Given the description of an element on the screen output the (x, y) to click on. 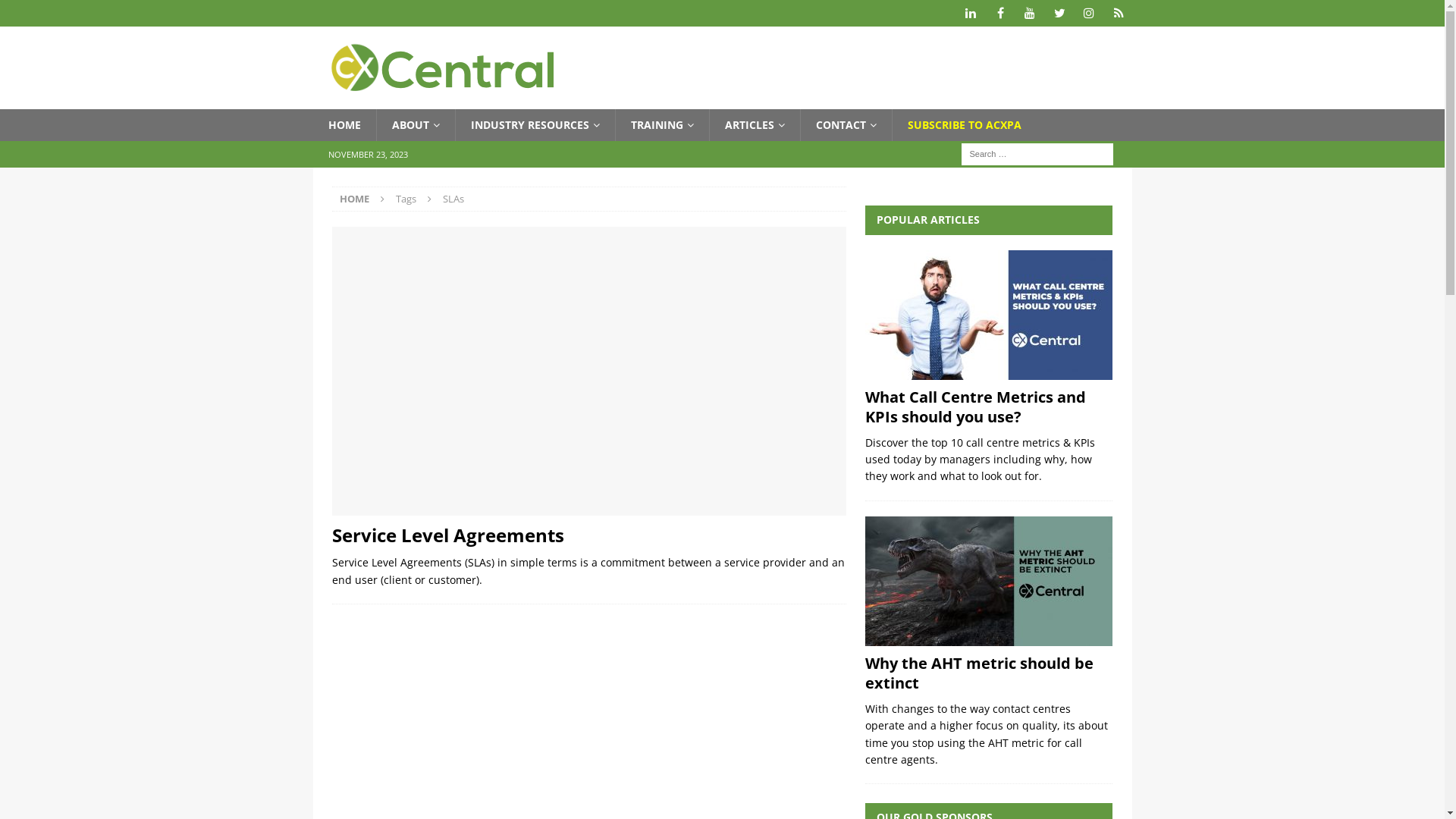
TRAINING Element type: text (661, 125)
What Call Centre Metrics and KPIs should you use? Element type: hover (988, 314)
HOME Element type: text (343, 125)
Search Element type: text (56, 11)
HOME Element type: text (354, 198)
ABOUT Element type: text (415, 125)
INDUSTRY RESOURCES Element type: text (535, 125)
Service Level Agreements Element type: hover (589, 370)
Why the AHT metric should be extinct Element type: hover (988, 581)
CONTACT Element type: text (845, 125)
SUBSCRIBE TO ACXPA Element type: text (963, 125)
ARTICLES Element type: text (753, 125)
Why the AHT metric should be extinct Element type: text (979, 672)
What Call Centre Metrics and KPIs should you use? Element type: text (975, 406)
Service Level Agreements Element type: text (448, 534)
